Given the description of an element on the screen output the (x, y) to click on. 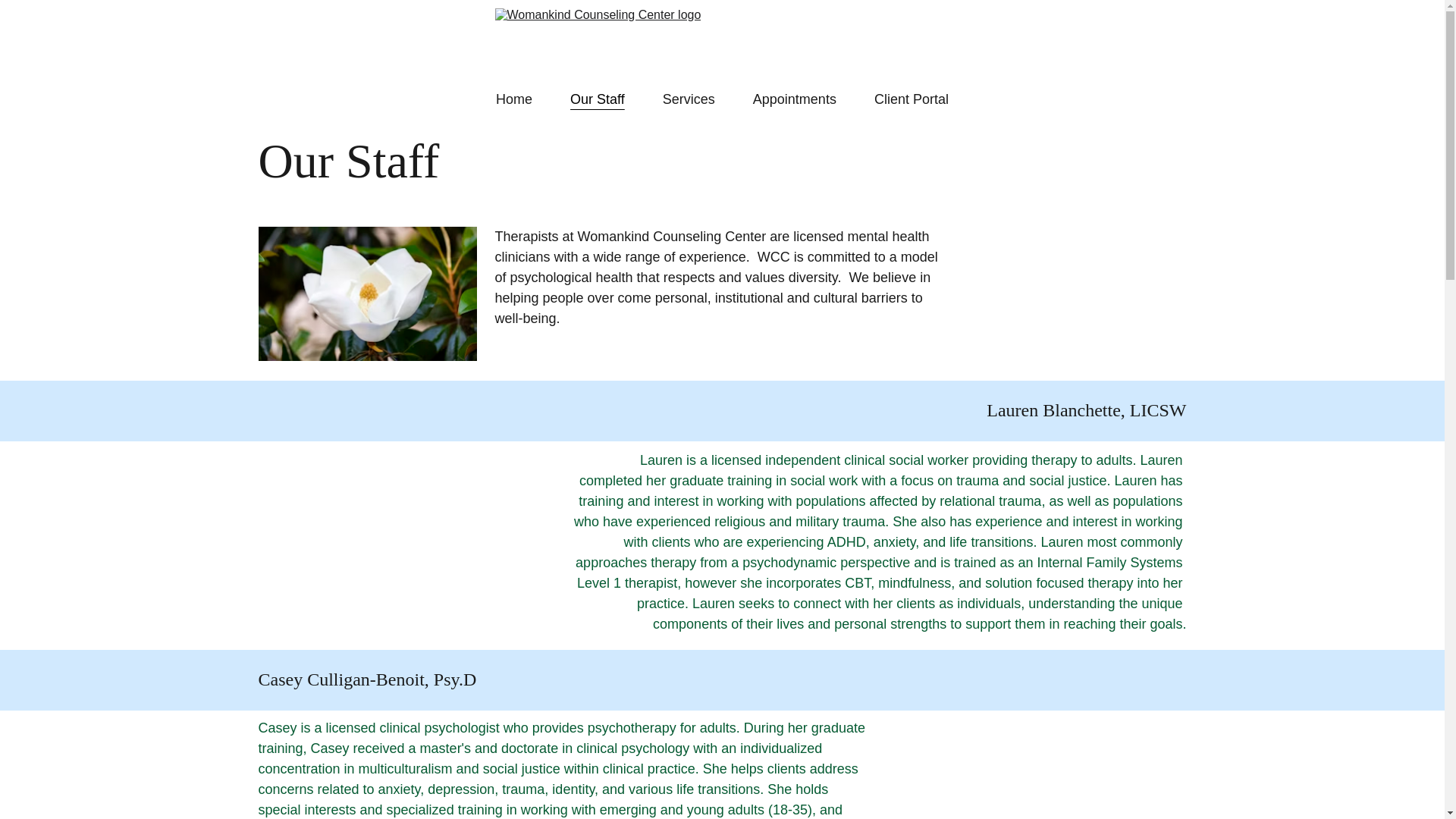
Our Staff (597, 99)
Appointments (793, 99)
Client Portal (912, 99)
Home (514, 99)
white petaled flower (366, 293)
Services (688, 99)
